Given the description of an element on the screen output the (x, y) to click on. 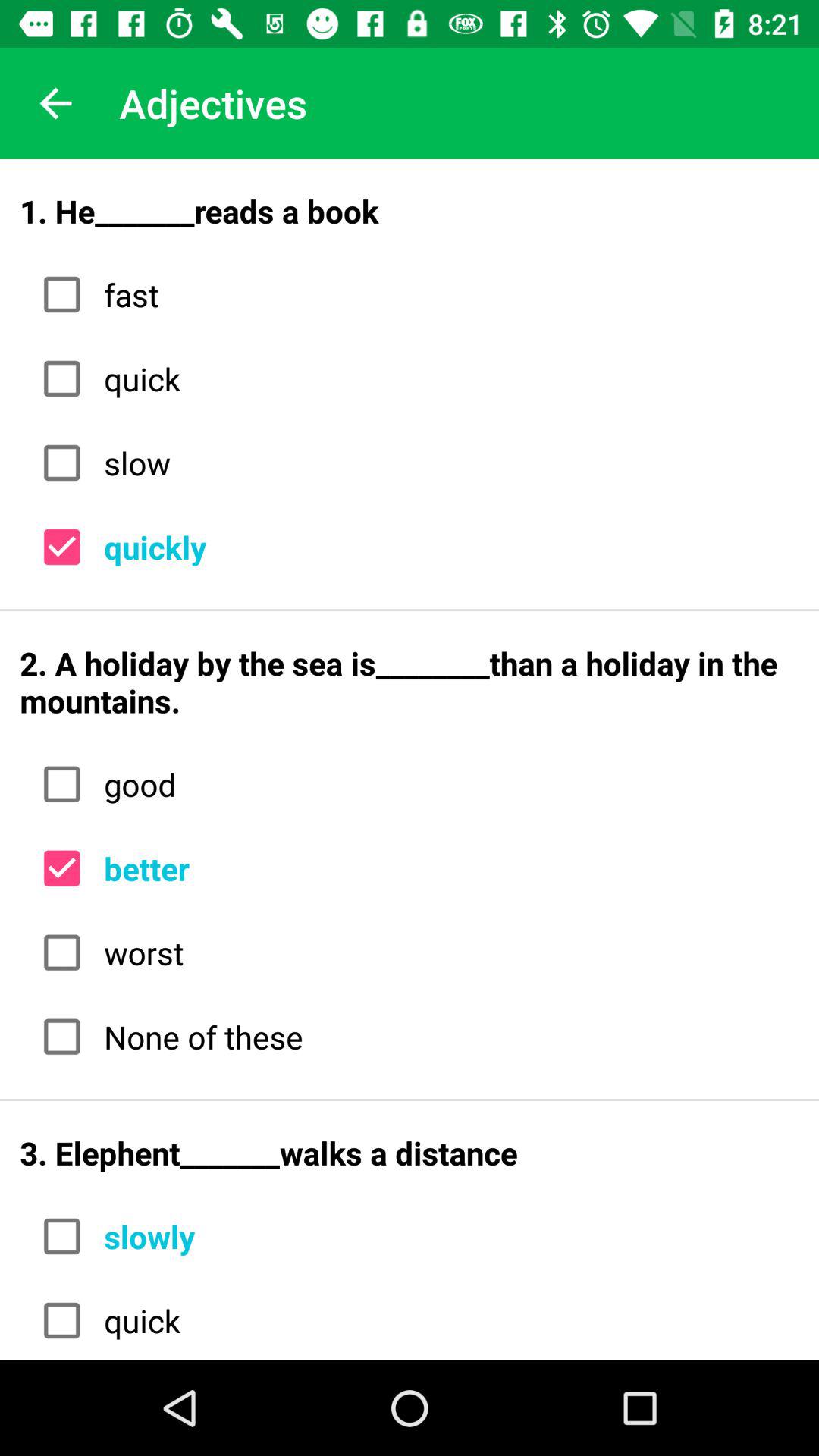
tap the worst (446, 952)
